Given the description of an element on the screen output the (x, y) to click on. 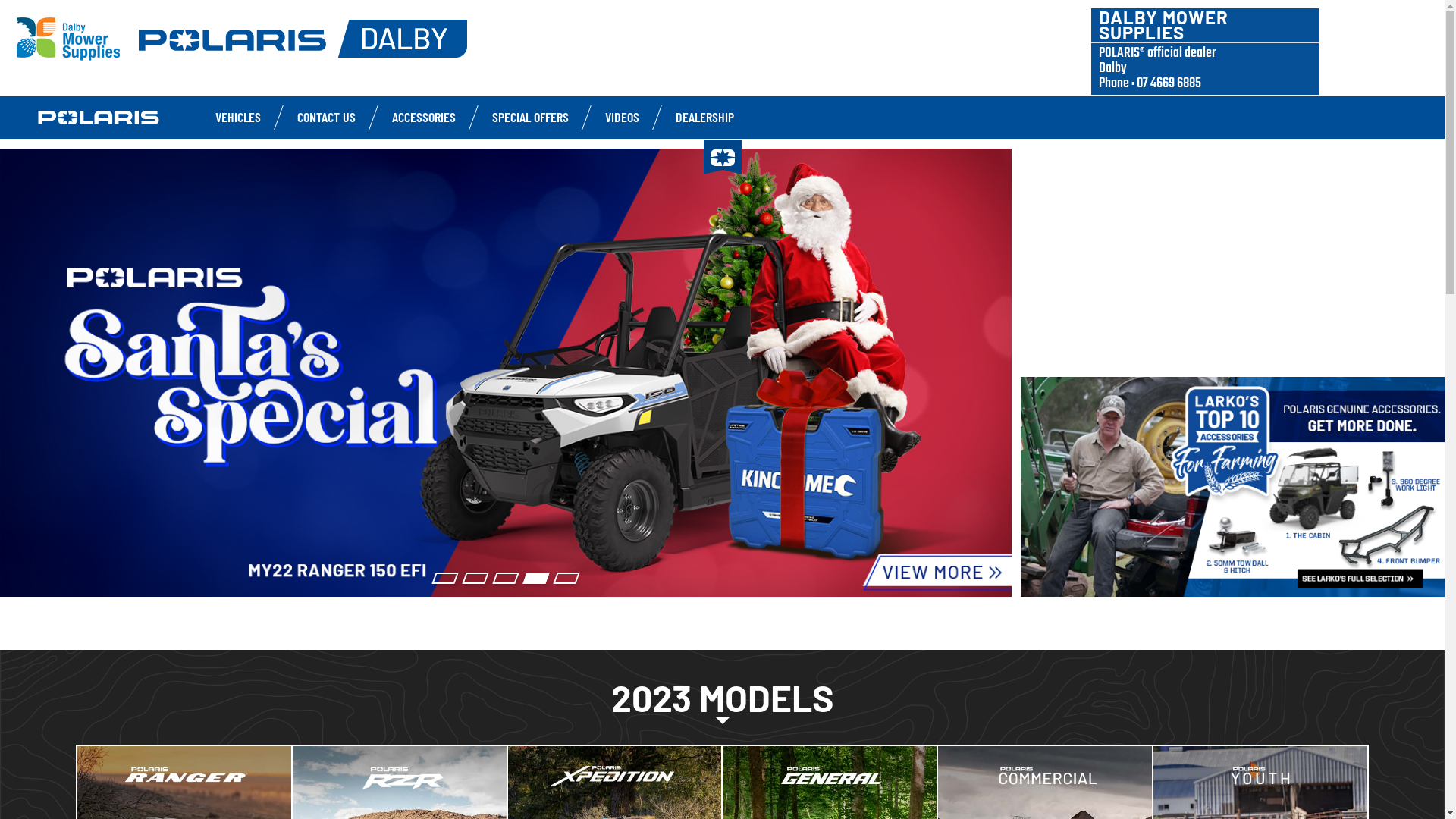
ACCESSORIES Element type: text (423, 116)
DEALERSHIP Element type: text (704, 116)
SPECIAL OFFERS Element type: text (530, 116)
5 Element type: text (566, 577)
1 Element type: text (444, 577)
4 Element type: text (535, 577)
CONTACT US Element type: text (326, 116)
2 Element type: text (475, 577)
VEHICLES Element type: text (237, 116)
VIDEOS Element type: text (622, 116)
3 Element type: text (505, 577)
